Given the description of an element on the screen output the (x, y) to click on. 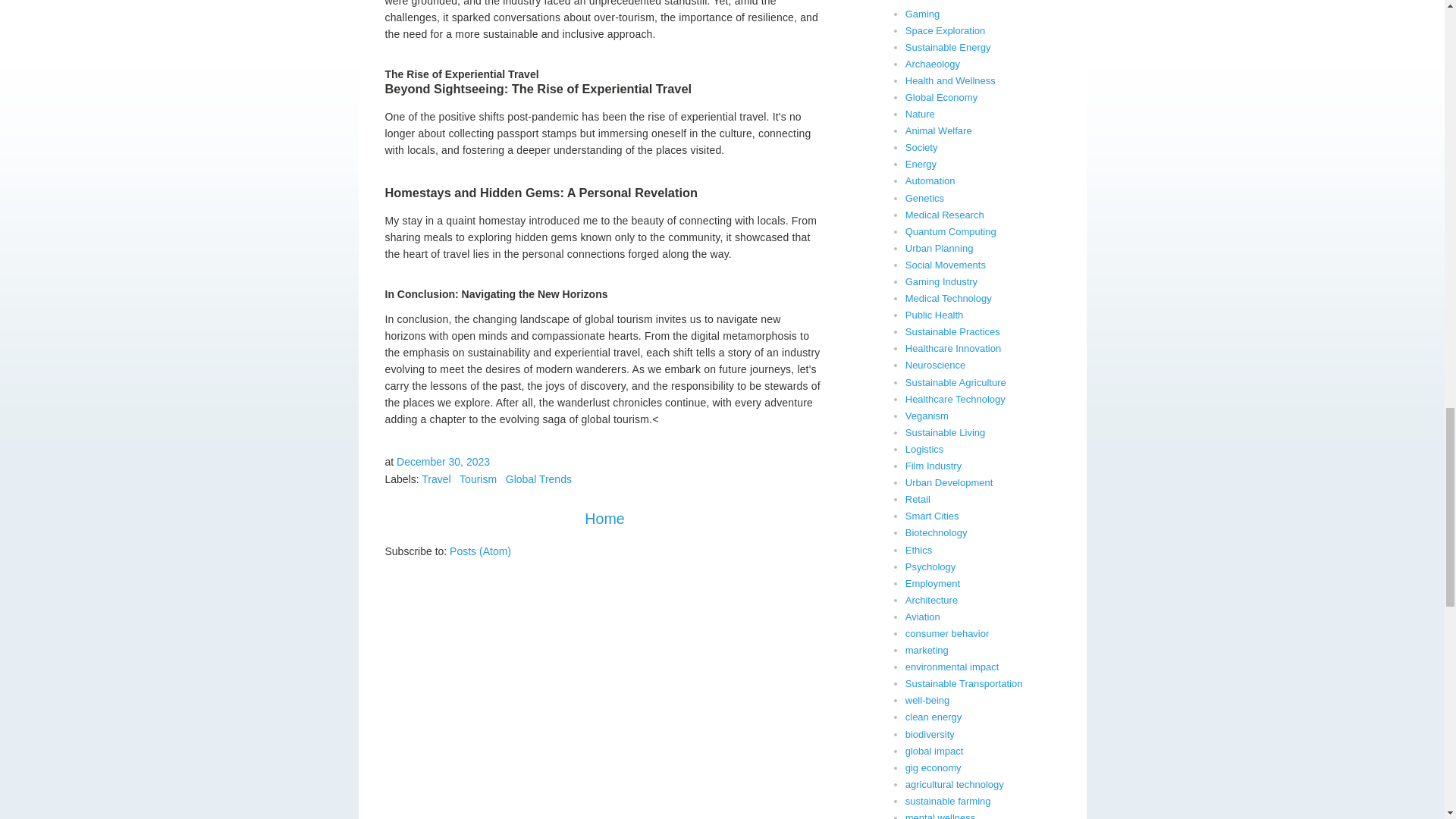
Tourism (478, 479)
Travel (435, 479)
Global Trends (538, 479)
permanent link (442, 461)
Home (604, 518)
December 30, 2023 (442, 461)
